Given the description of an element on the screen output the (x, y) to click on. 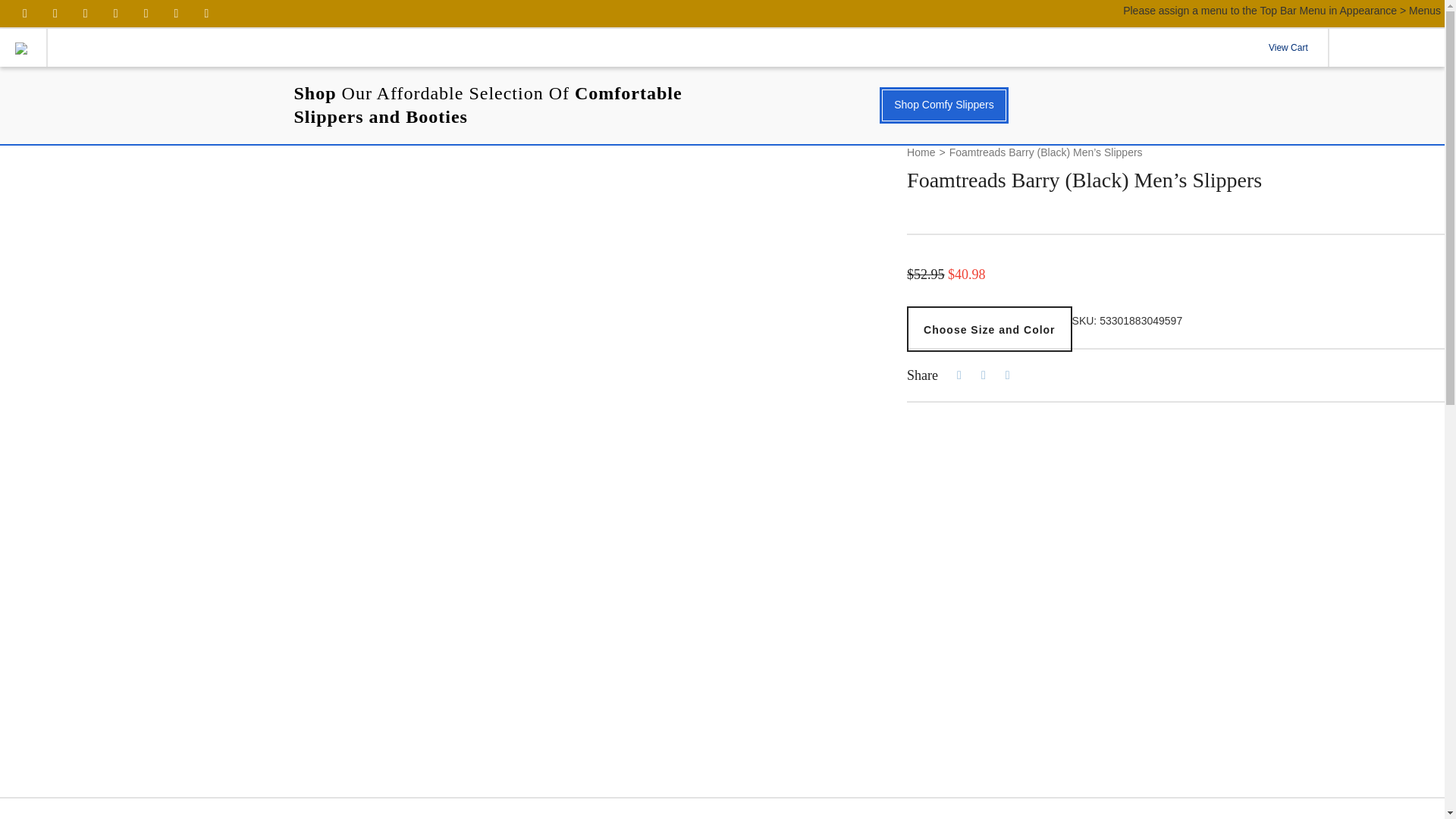
Choose Size and Color (989, 329)
Home (920, 152)
View Cart (1287, 47)
Shop Comfy Slippers (944, 105)
